Given the description of an element on the screen output the (x, y) to click on. 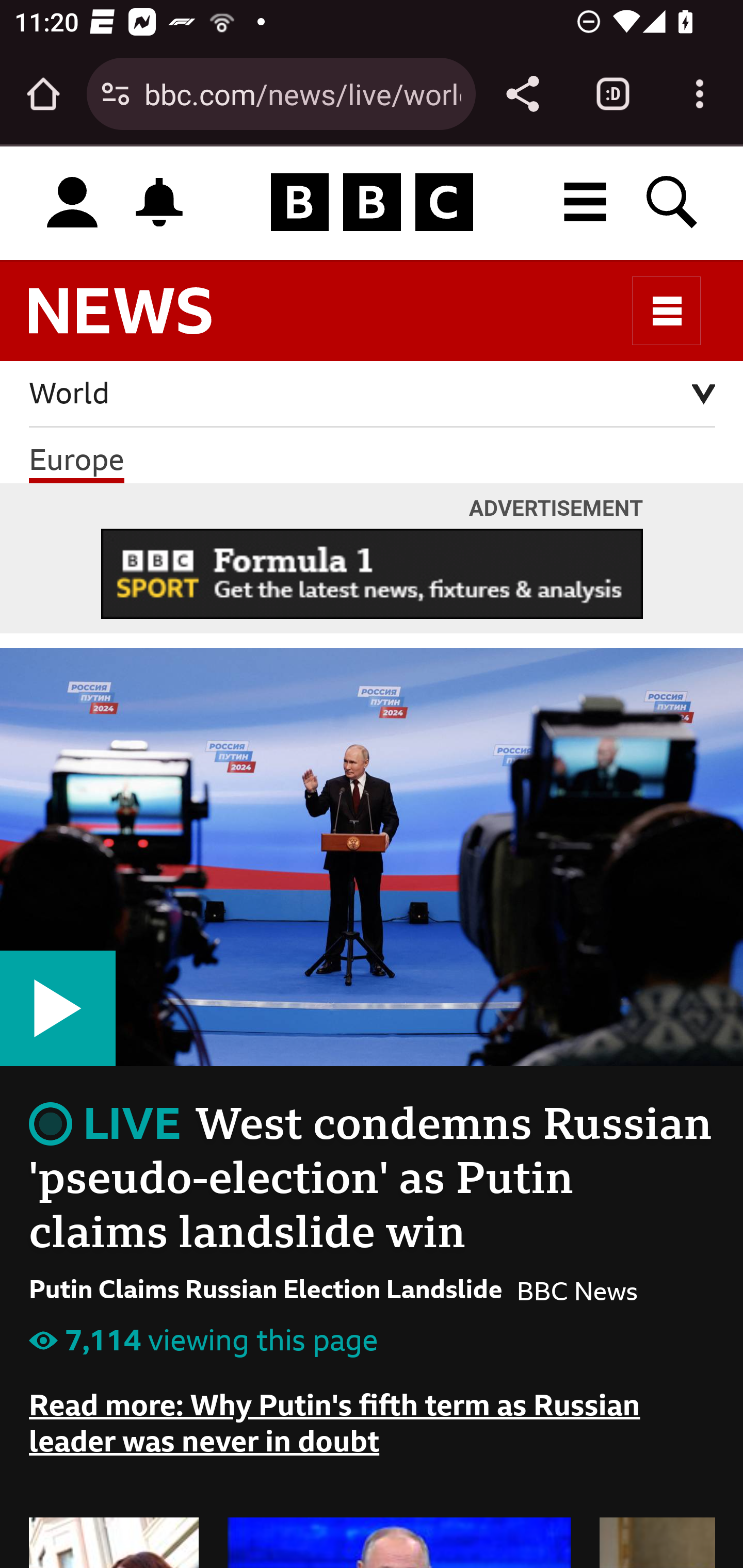
Open the home page (43, 93)
Connection is secure (115, 93)
Share (522, 93)
Switch or close tabs (612, 93)
Customize and control Google Chrome (699, 93)
bbc.com/news/live/world-europe-68536879 (302, 92)
Notifications (159, 202)
All BBC destinations menu (585, 202)
Search BBC (672, 202)
Sign in (71, 203)
Homepage (371, 203)
Sections (667, 310)
BBC News (136, 319)
World (372, 394)
